Given the description of an element on the screen output the (x, y) to click on. 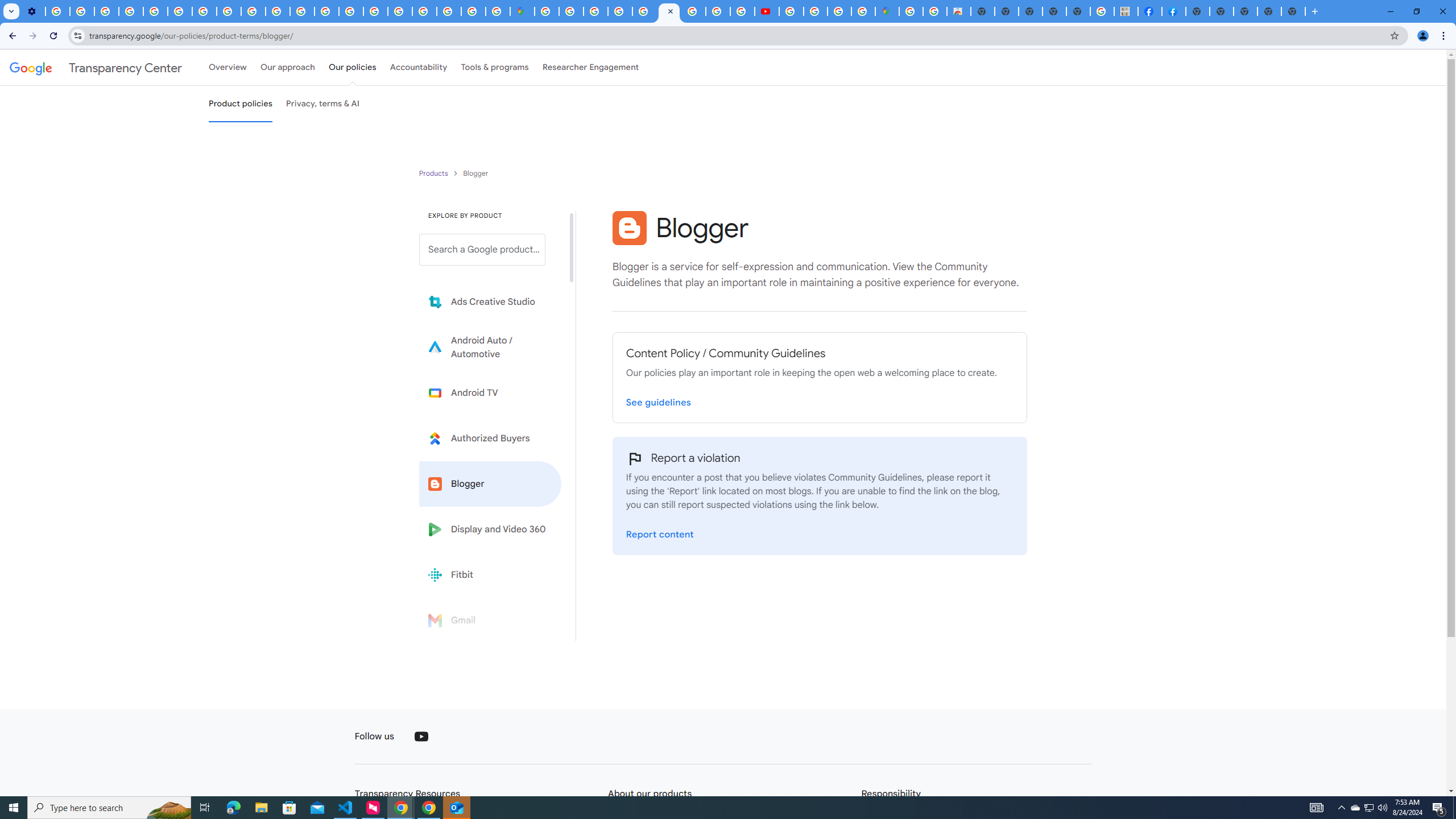
Our policies (351, 67)
Miley Cyrus | Facebook (1149, 11)
MILEY CYRUS. (1125, 11)
